Given the description of an element on the screen output the (x, y) to click on. 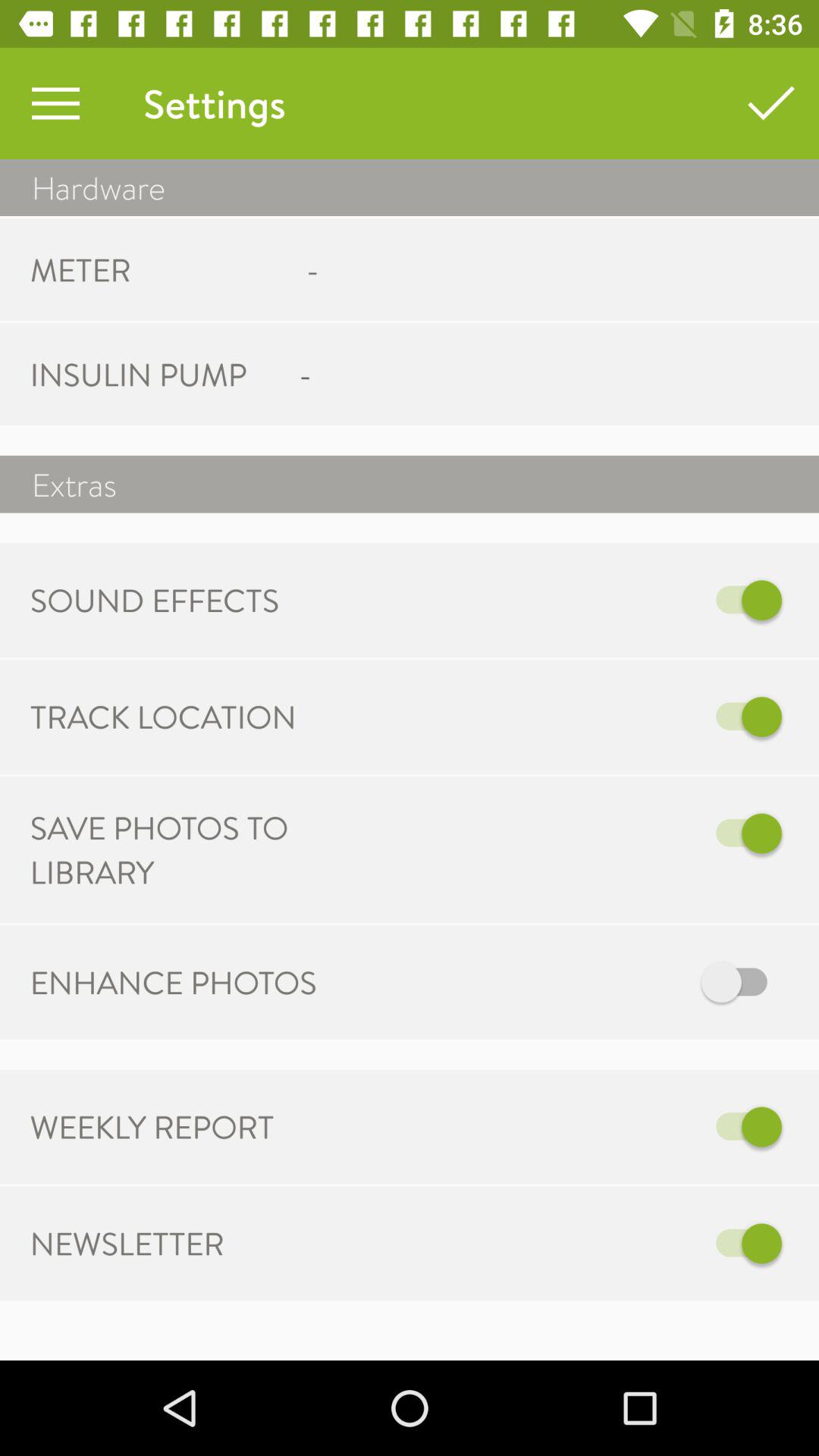
turn off the icon next to newsletter item (566, 1243)
